Given the description of an element on the screen output the (x, y) to click on. 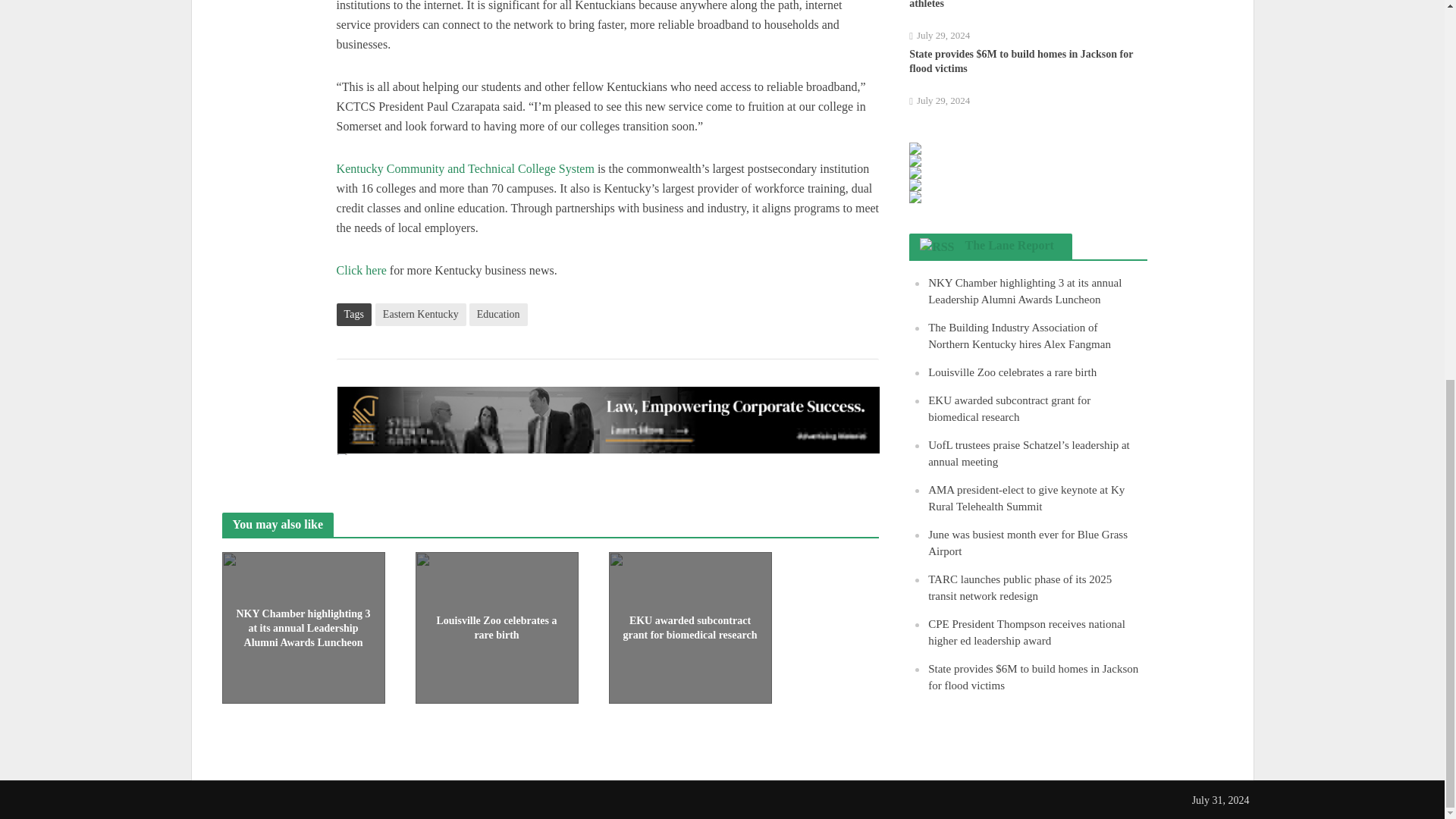
EKU awarded subcontract grant for biomedical research (689, 626)
Louisville Zoo celebrates a rare birth (496, 626)
